Given the description of an element on the screen output the (x, y) to click on. 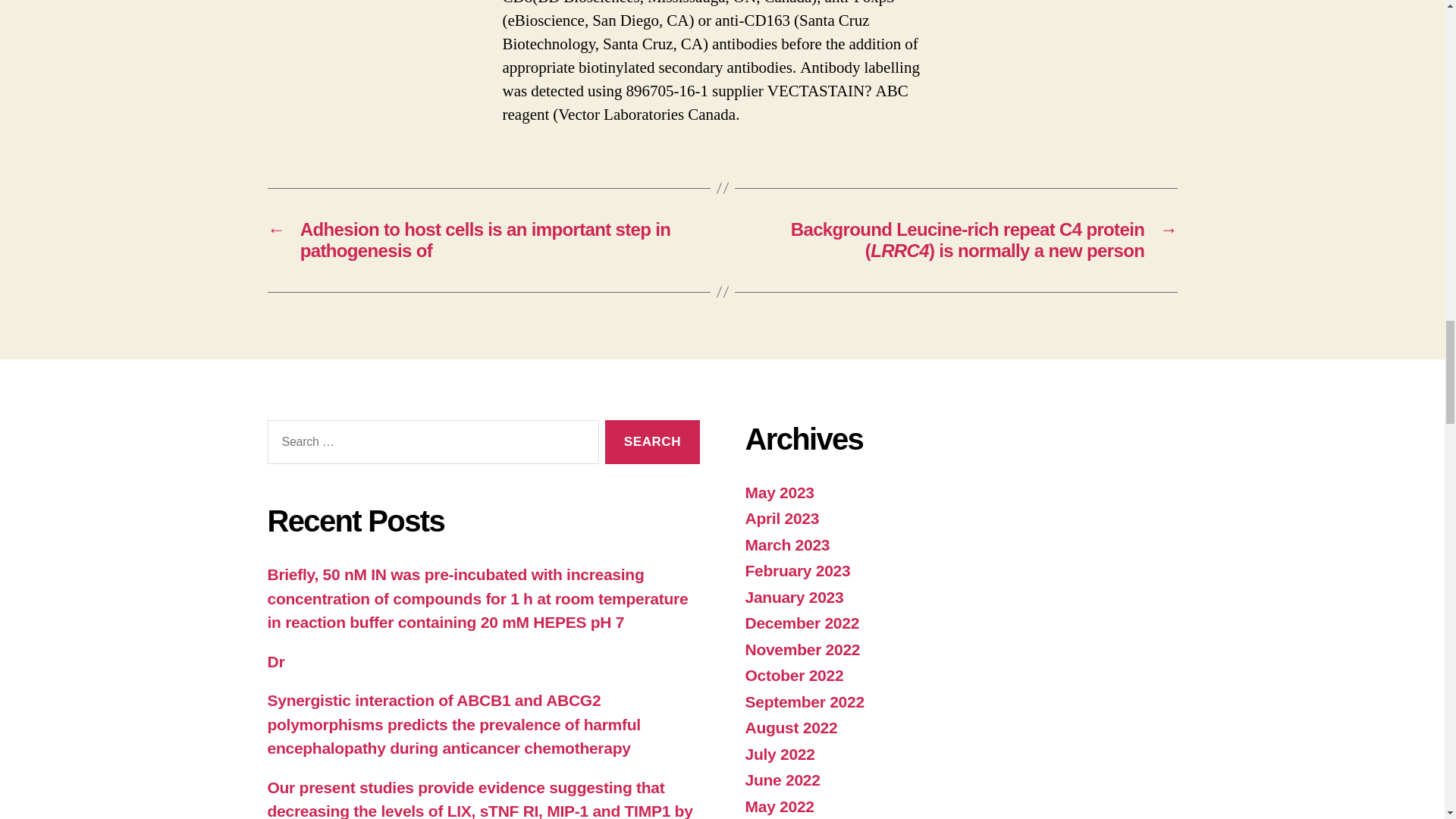
Search (651, 442)
November 2022 (802, 649)
Dr (274, 661)
June 2022 (781, 779)
Search (651, 442)
April 2023 (781, 518)
May 2022 (778, 805)
February 2023 (797, 570)
September 2022 (803, 701)
Search (651, 442)
January 2023 (793, 597)
March 2023 (786, 544)
